Given the description of an element on the screen output the (x, y) to click on. 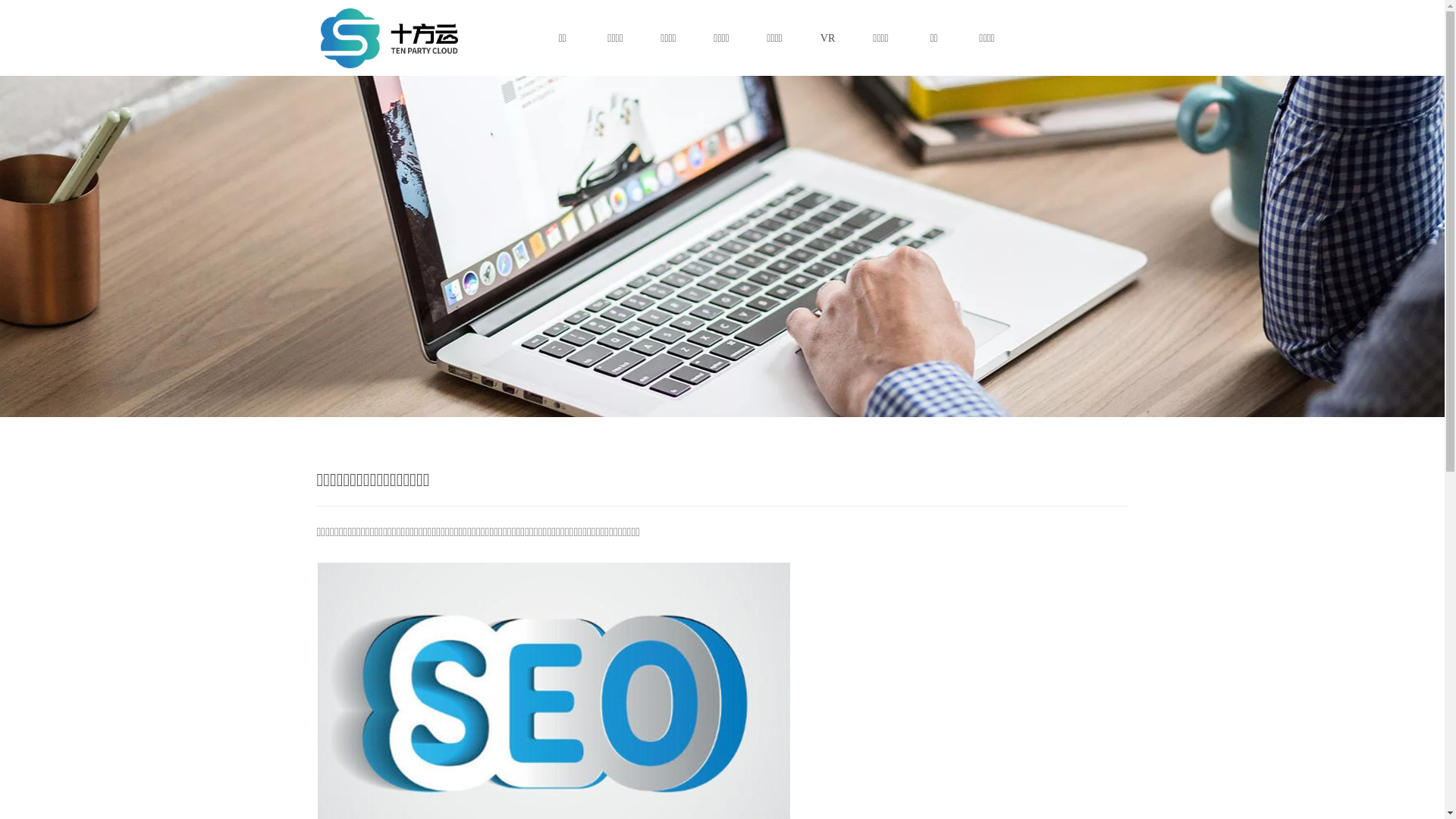
VR Element type: text (827, 37)
VR Element type: text (826, 37)
